Given the description of an element on the screen output the (x, y) to click on. 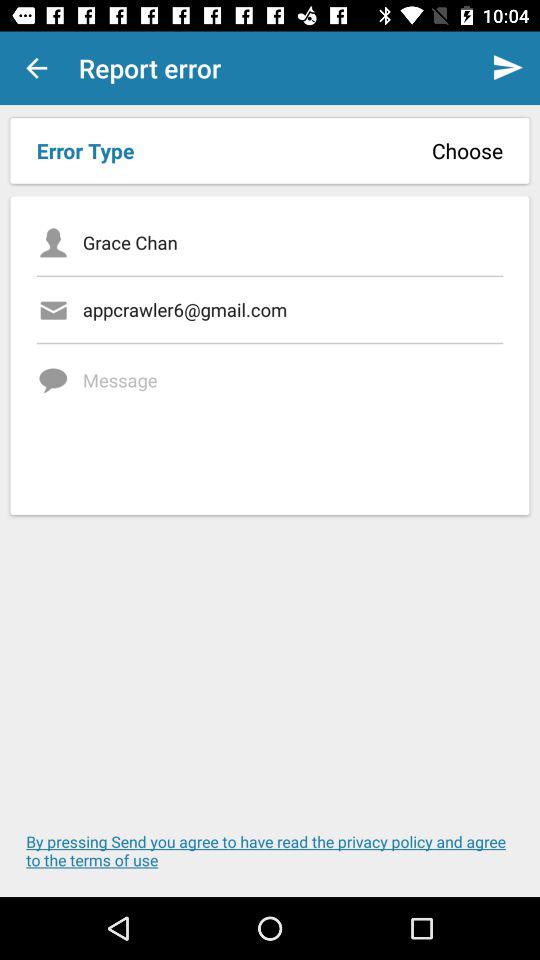
go to the text box right to message icon (292, 422)
click on error type box which also has choose option on the right hand side (269, 151)
select the send button which is on the top right corner of the page (508, 68)
